Given the description of an element on the screen output the (x, y) to click on. 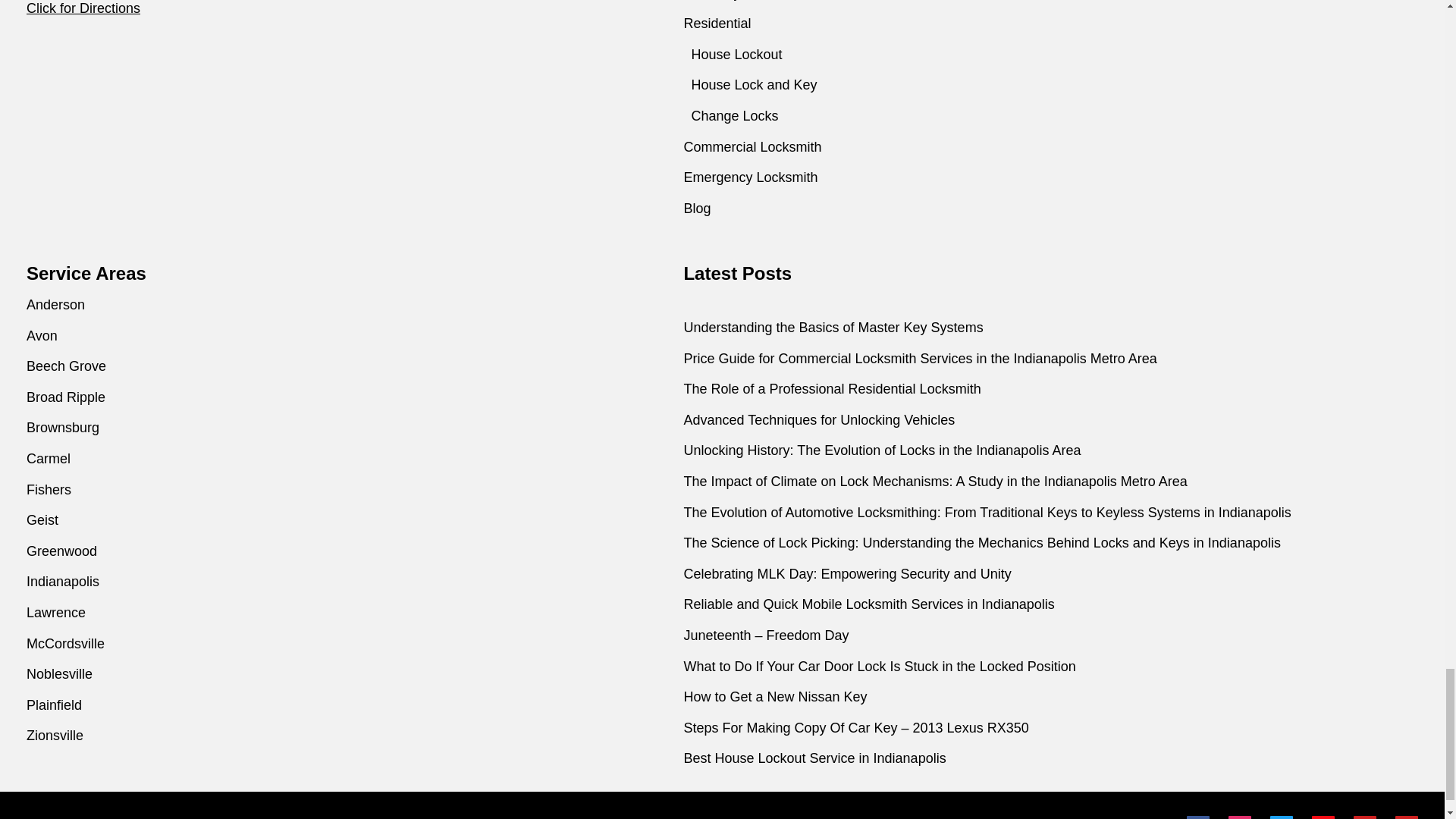
Instagram (1239, 817)
Facebook (1197, 817)
Twitter (1280, 817)
